Given the description of an element on the screen output the (x, y) to click on. 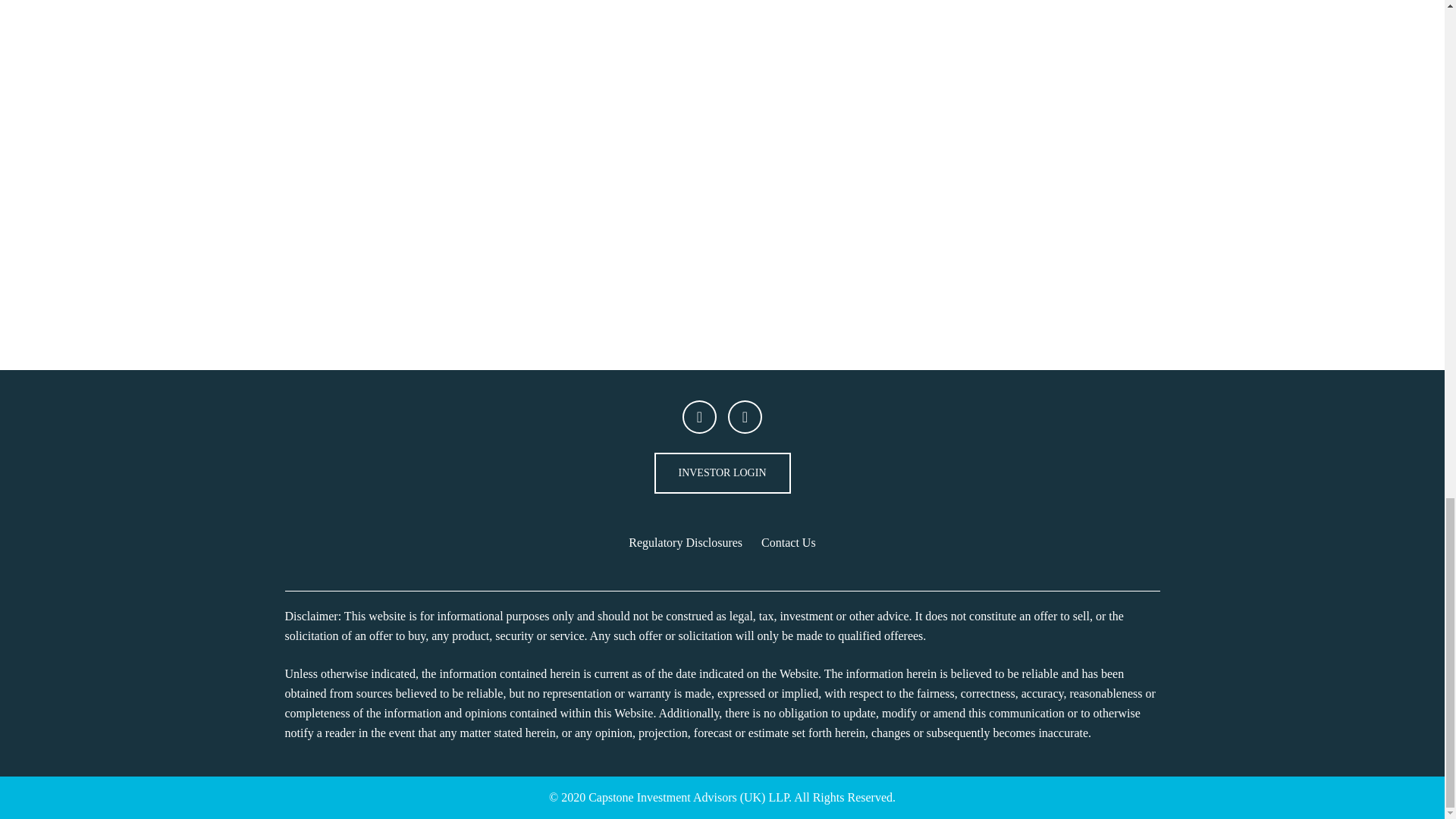
Linkedin (699, 417)
INVESTOR LOGIN (721, 472)
Regulatory Disclosures (685, 542)
Contact Us (788, 542)
Vimeo (744, 417)
